Given the description of an element on the screen output the (x, y) to click on. 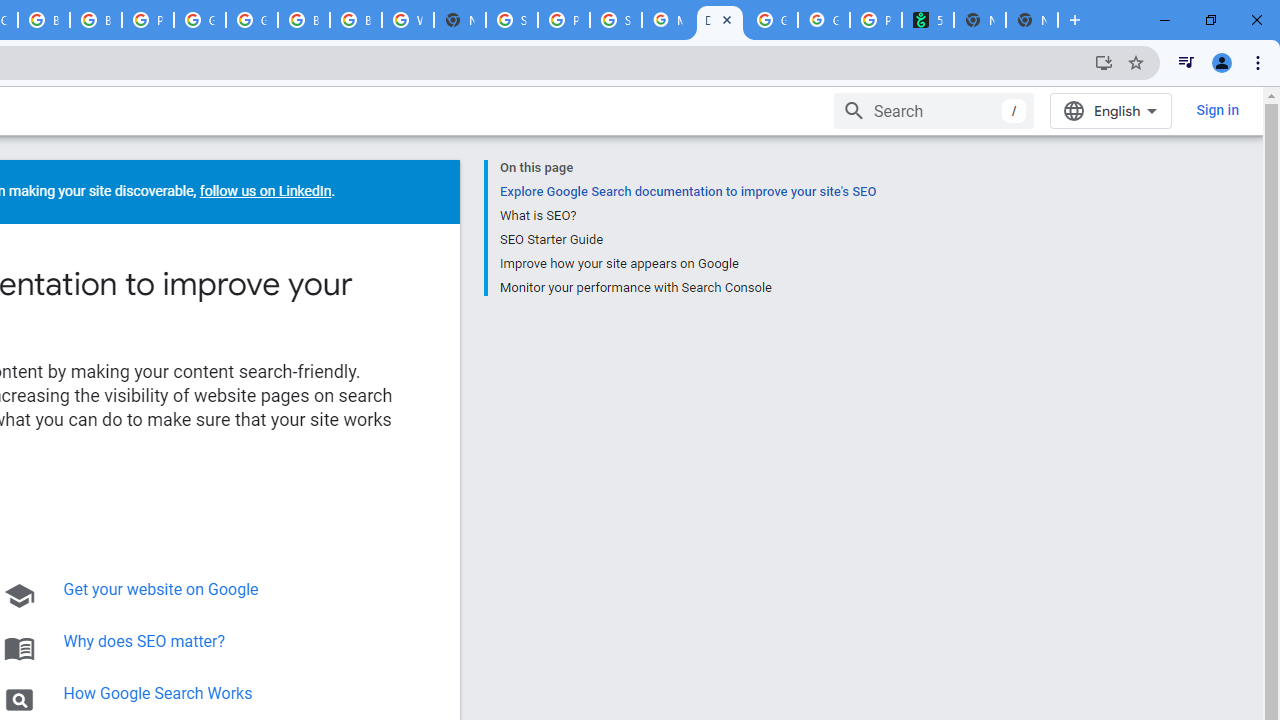
Browse Chrome as a guest - Computer - Google Chrome Help (43, 20)
Monitor your performance with Search Console (687, 285)
What is SEO? (687, 215)
Get your website on Google (160, 589)
English (1110, 110)
